Given the description of an element on the screen output the (x, y) to click on. 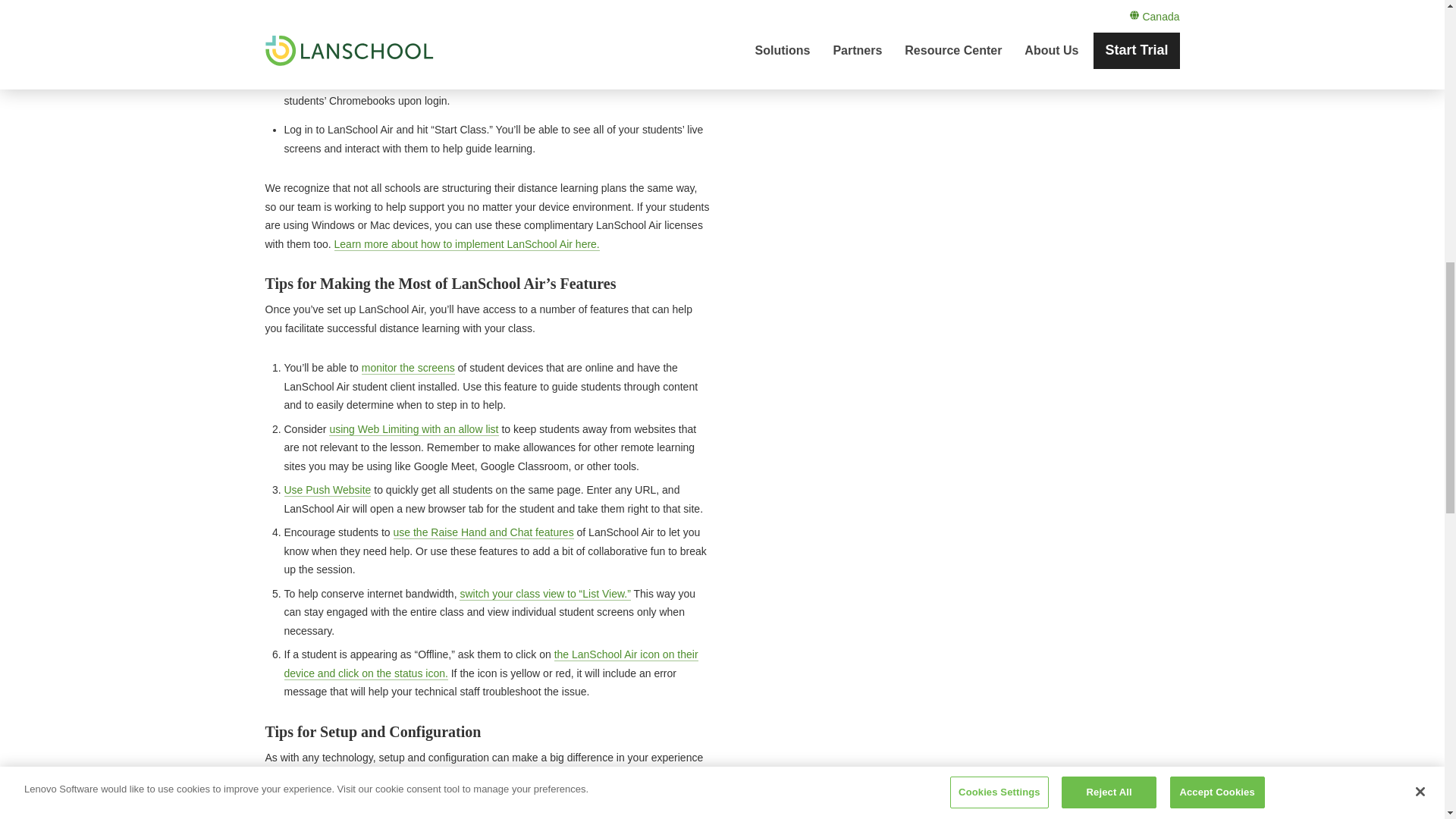
monitor the screens (407, 367)
Learn more about how to implement LanSchool Air here. (466, 244)
use the Raise Hand and Chat features (483, 532)
using Web Limiting with an allow list (413, 429)
Use Push Website (327, 490)
Distance Learning Toolkit (549, 2)
